Given the description of an element on the screen output the (x, y) to click on. 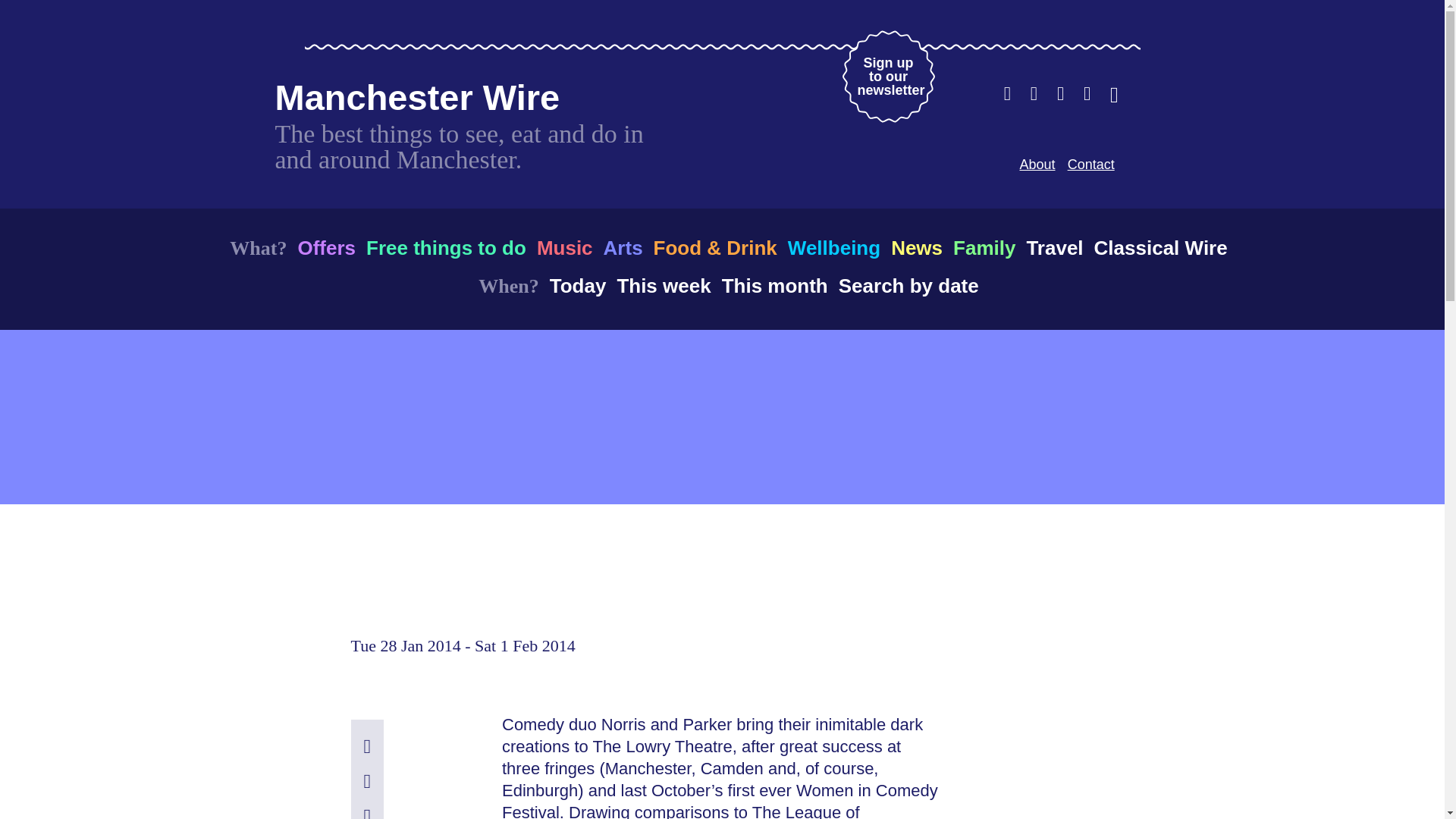
Classical Wire (1160, 248)
About (1036, 164)
Offers (326, 248)
Music (564, 248)
Wellbeing (833, 248)
News (916, 248)
Arts (623, 248)
This month (887, 76)
Family (775, 285)
This week (983, 248)
Free things to do (662, 285)
Today (445, 248)
Contact (578, 285)
Travel (1091, 164)
